Given the description of an element on the screen output the (x, y) to click on. 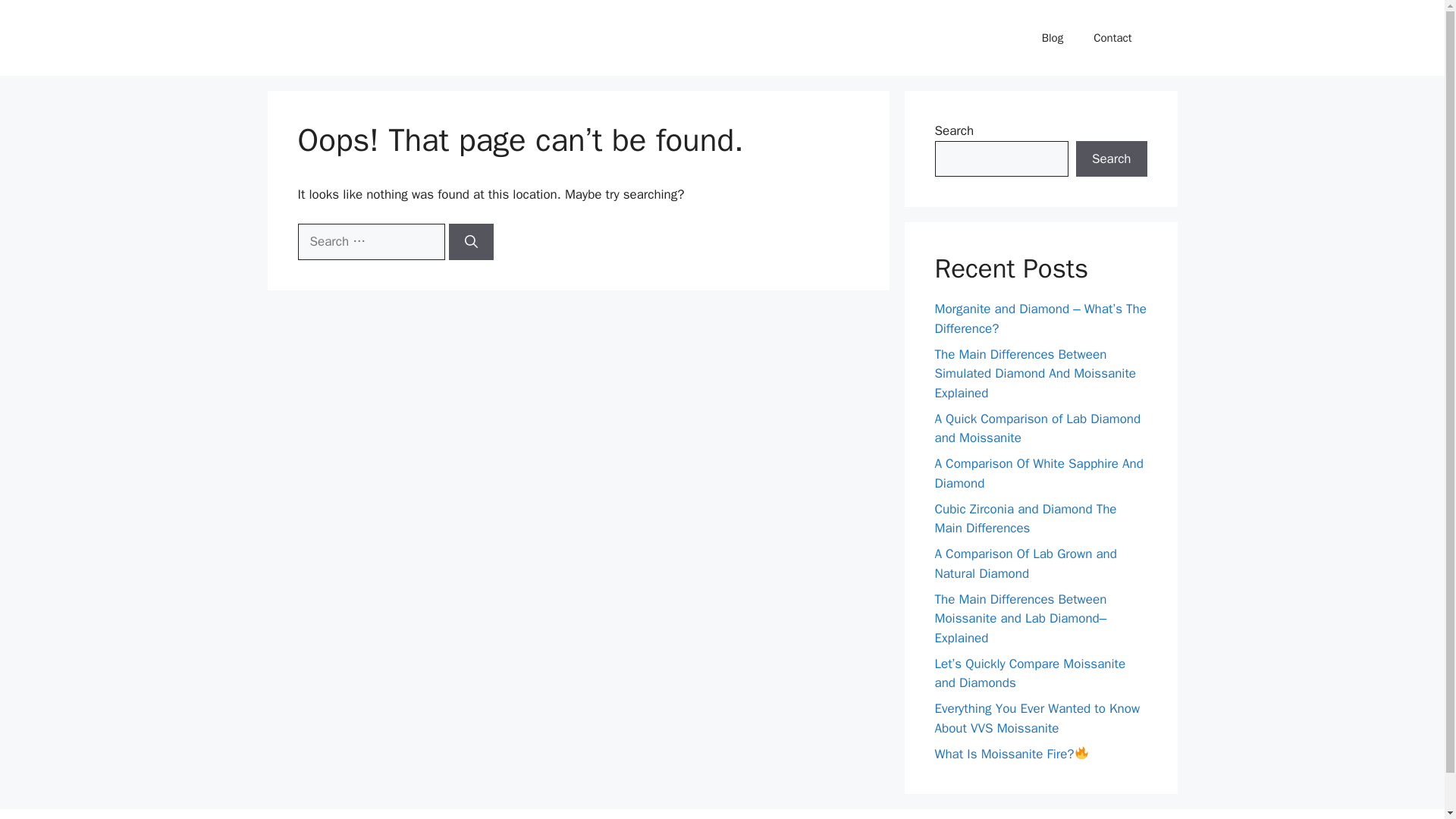
Search for: (370, 241)
Search (1111, 158)
Everything You Ever Wanted to Know About VVS Moissanite (1037, 718)
A Comparison Of White Sapphire And Diamond (1038, 473)
Blog (1052, 37)
Contact (1112, 37)
A Comparison Of Lab Grown and Natural Diamond (1025, 563)
What Is Moissanite Fire? (1010, 754)
Cubic Zirconia and Diamond The Main Differences (1025, 518)
